Given the description of an element on the screen output the (x, y) to click on. 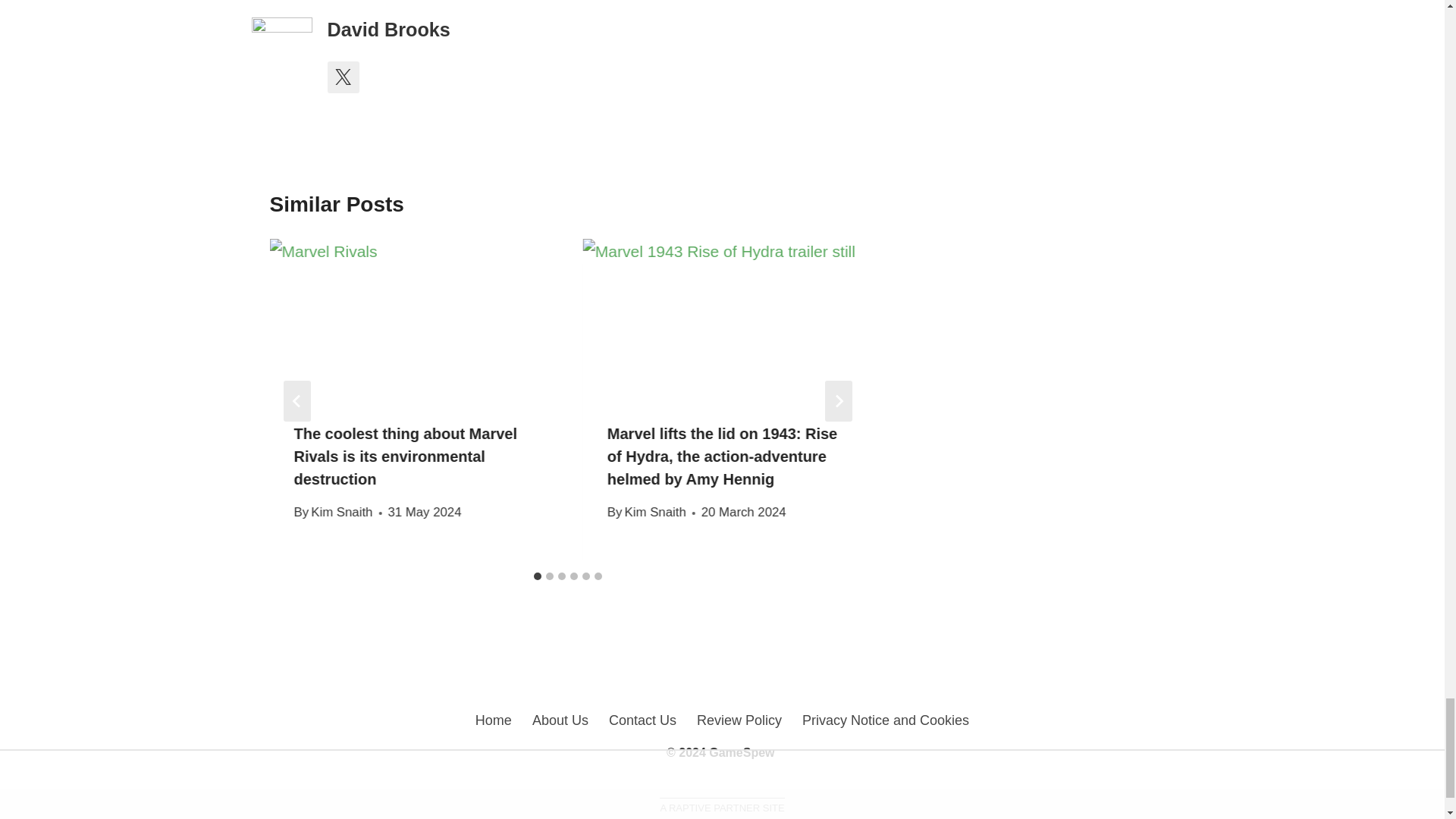
Posts by David Brooks (388, 29)
David Brooks (388, 29)
Follow David Brooks on X formerly Twitter (343, 77)
